Given the description of an element on the screen output the (x, y) to click on. 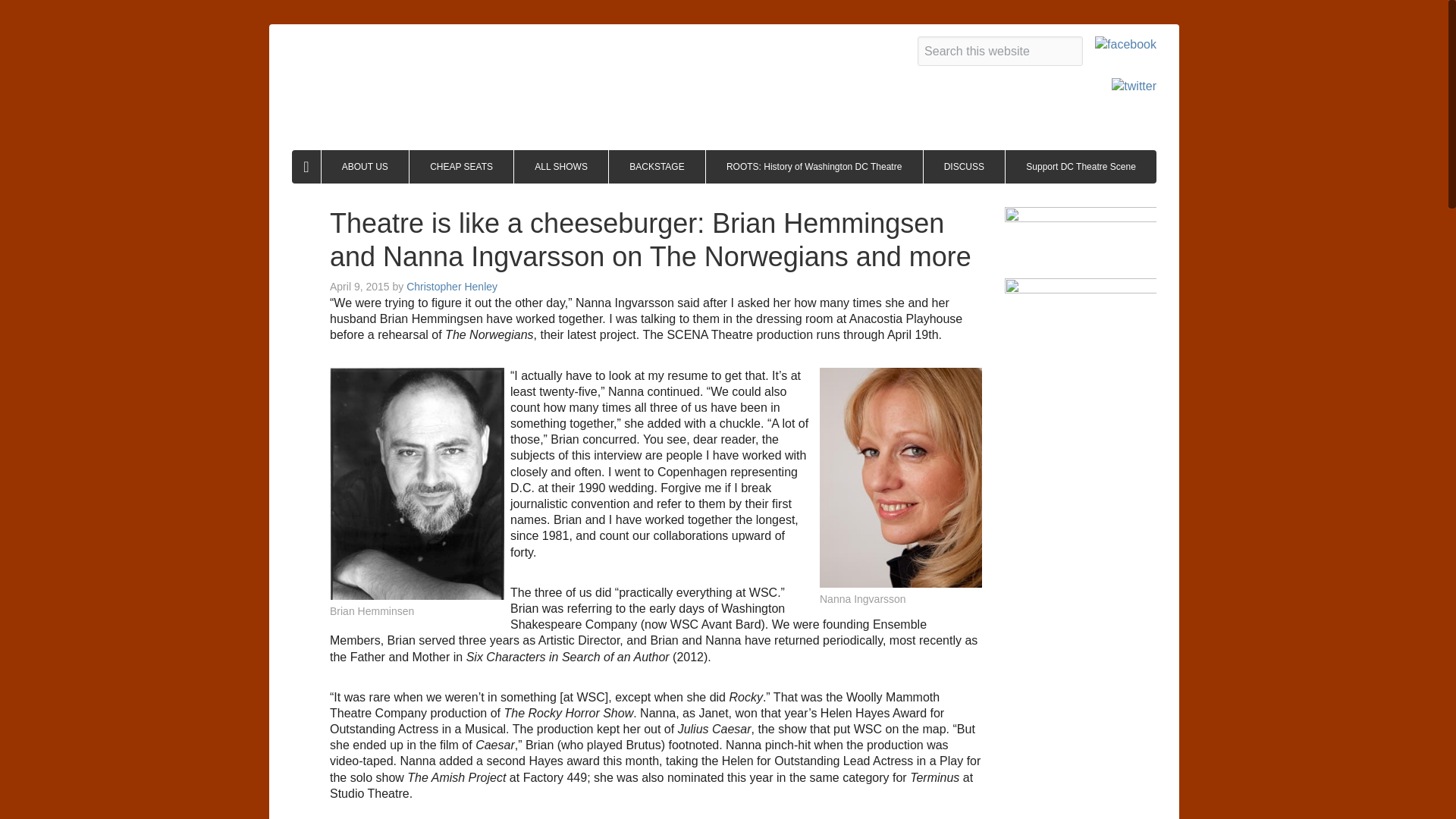
Follow DC Theatre Scene on Twitter (1134, 87)
ROOTS: History of Washington DC Theatre (814, 166)
ALL SHOWS (560, 166)
DISCUSS (964, 166)
Support DC Theatre Scene (1081, 166)
CHEAP SEATS (461, 166)
Christopher Henley (451, 286)
